Given the description of an element on the screen output the (x, y) to click on. 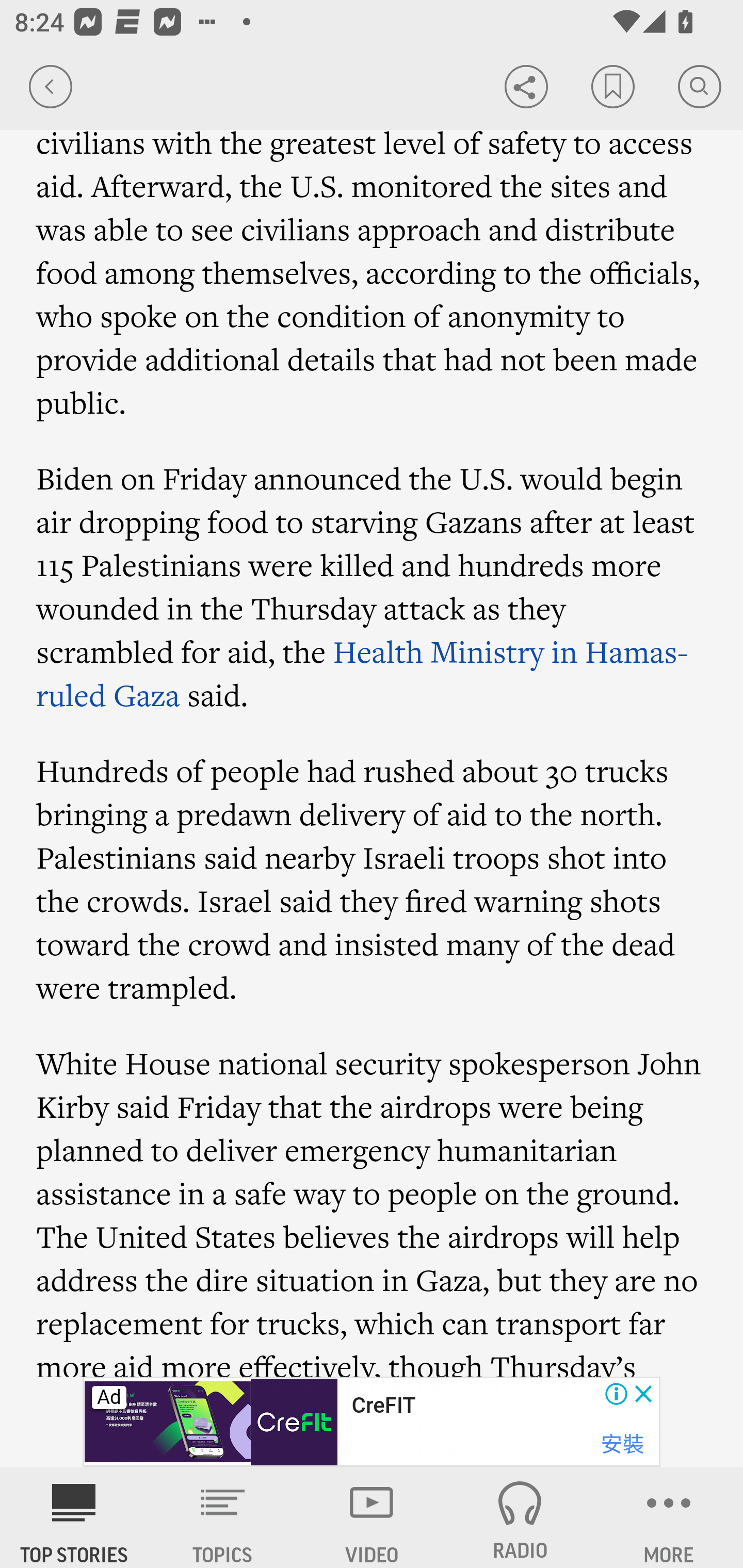
Health Ministry in Hamas-ruled Gaza (362, 673)
CreFIT (382, 1405)
安裝 (621, 1444)
AP News TOP STORIES (74, 1517)
TOPICS (222, 1517)
VIDEO (371, 1517)
RADIO (519, 1517)
MORE (668, 1517)
